Given the description of an element on the screen output the (x, y) to click on. 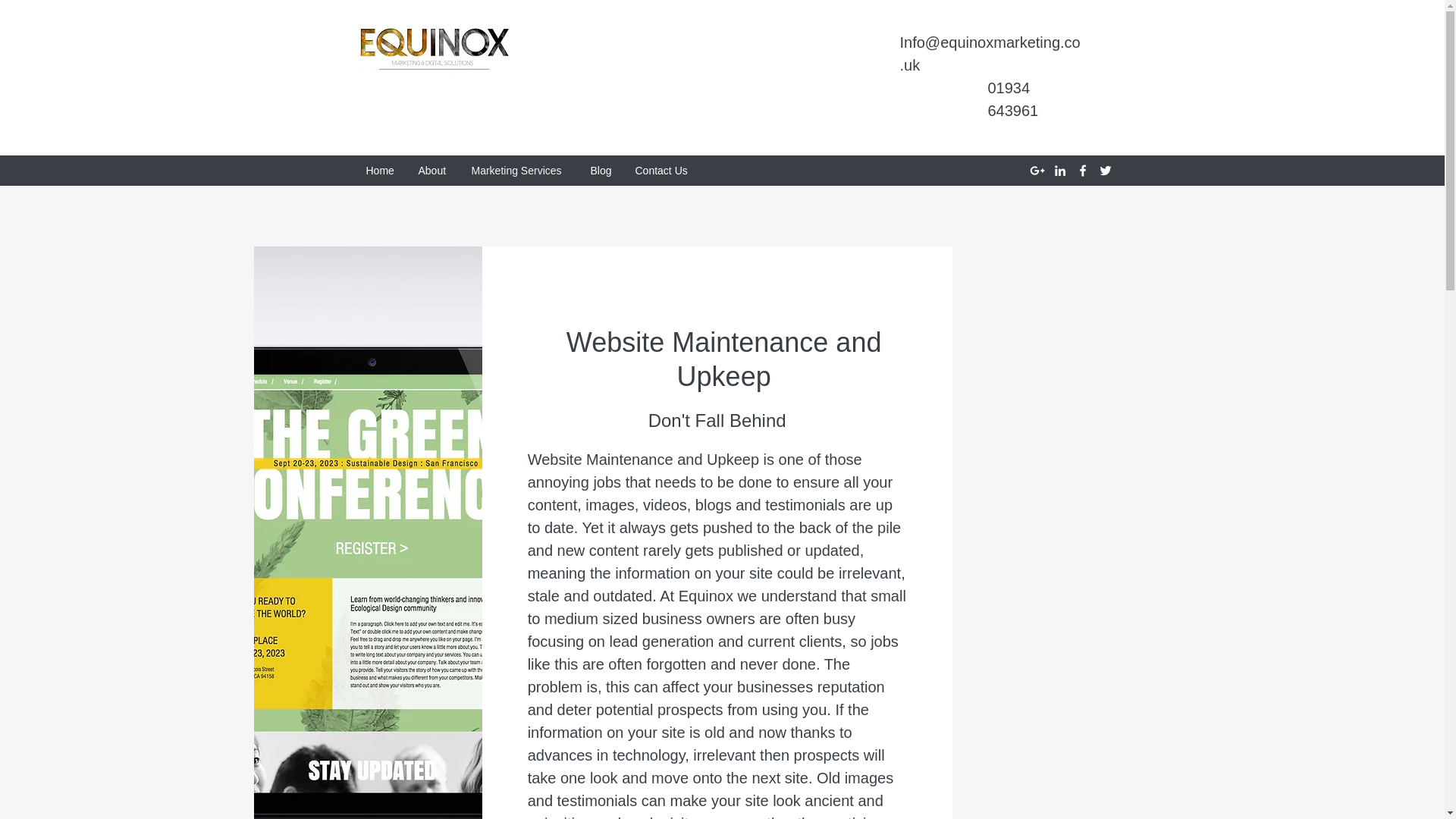
Contact Us (661, 169)
Blog (601, 169)
About (433, 169)
Marketing Services (519, 169)
Home (381, 169)
